Given the description of an element on the screen output the (x, y) to click on. 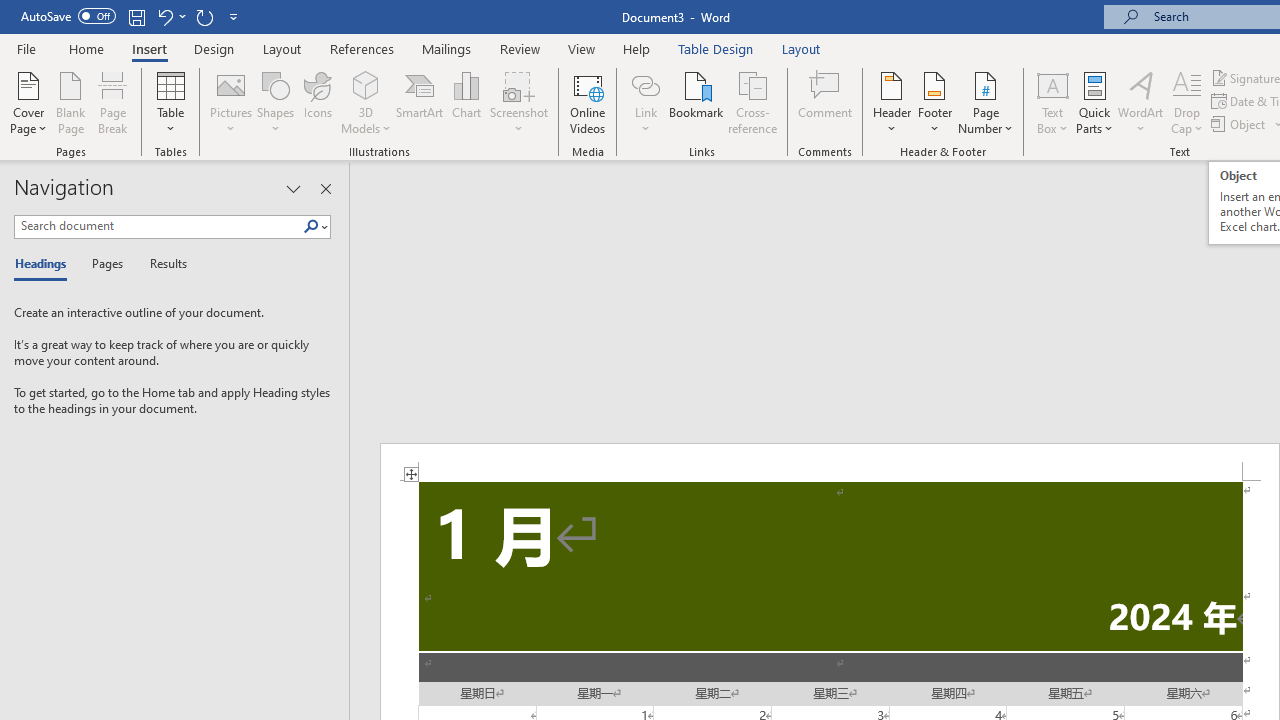
Repeat Doc Close (204, 15)
Object... (1240, 124)
Bookmark... (695, 102)
Chart... (466, 102)
Link (645, 102)
Online Videos... (588, 102)
Drop Cap (1187, 102)
Link (645, 84)
Pages (105, 264)
